Given the description of an element on the screen output the (x, y) to click on. 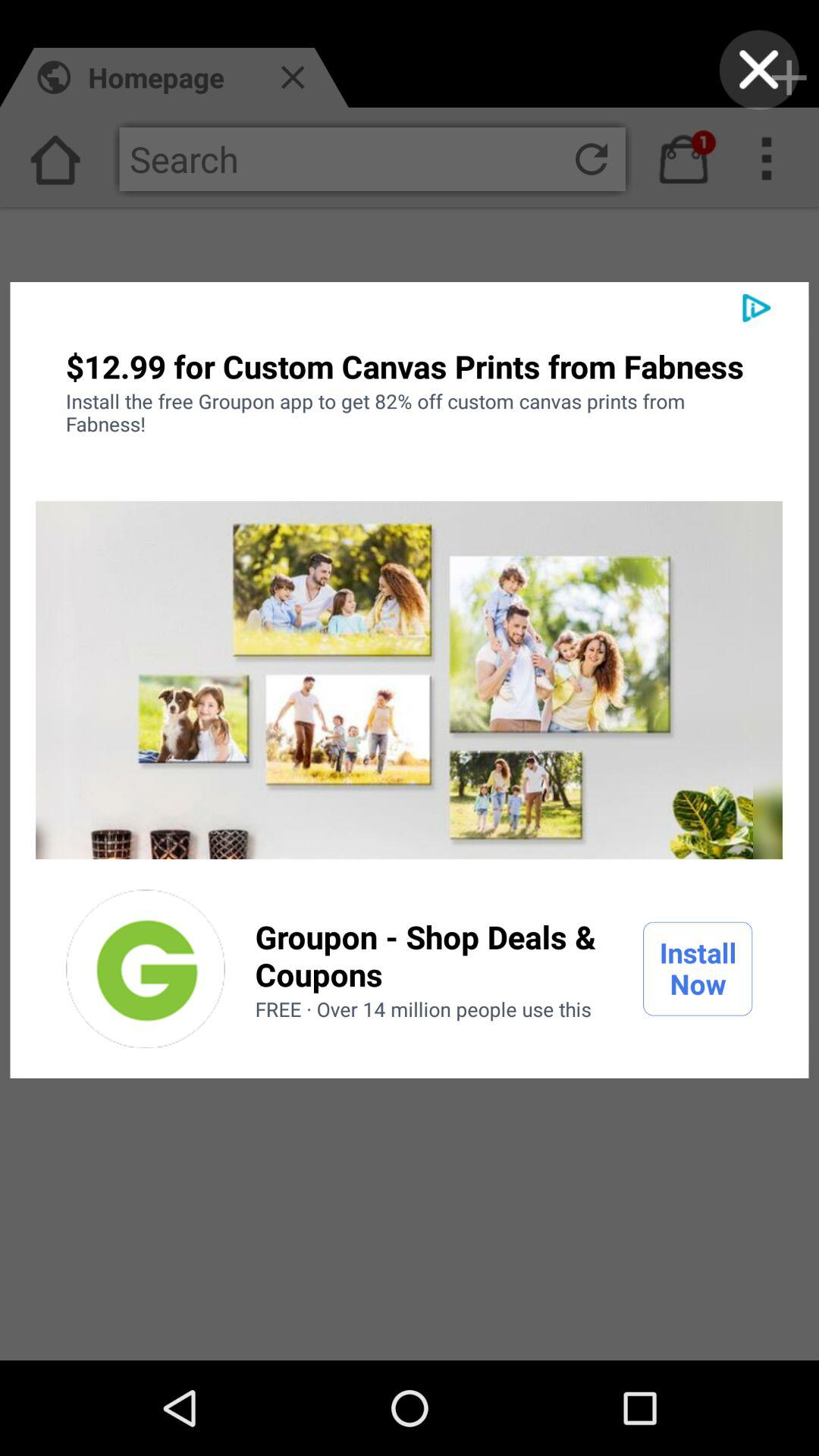
tap the item next to the groupon shop deals icon (145, 968)
